Given the description of an element on the screen output the (x, y) to click on. 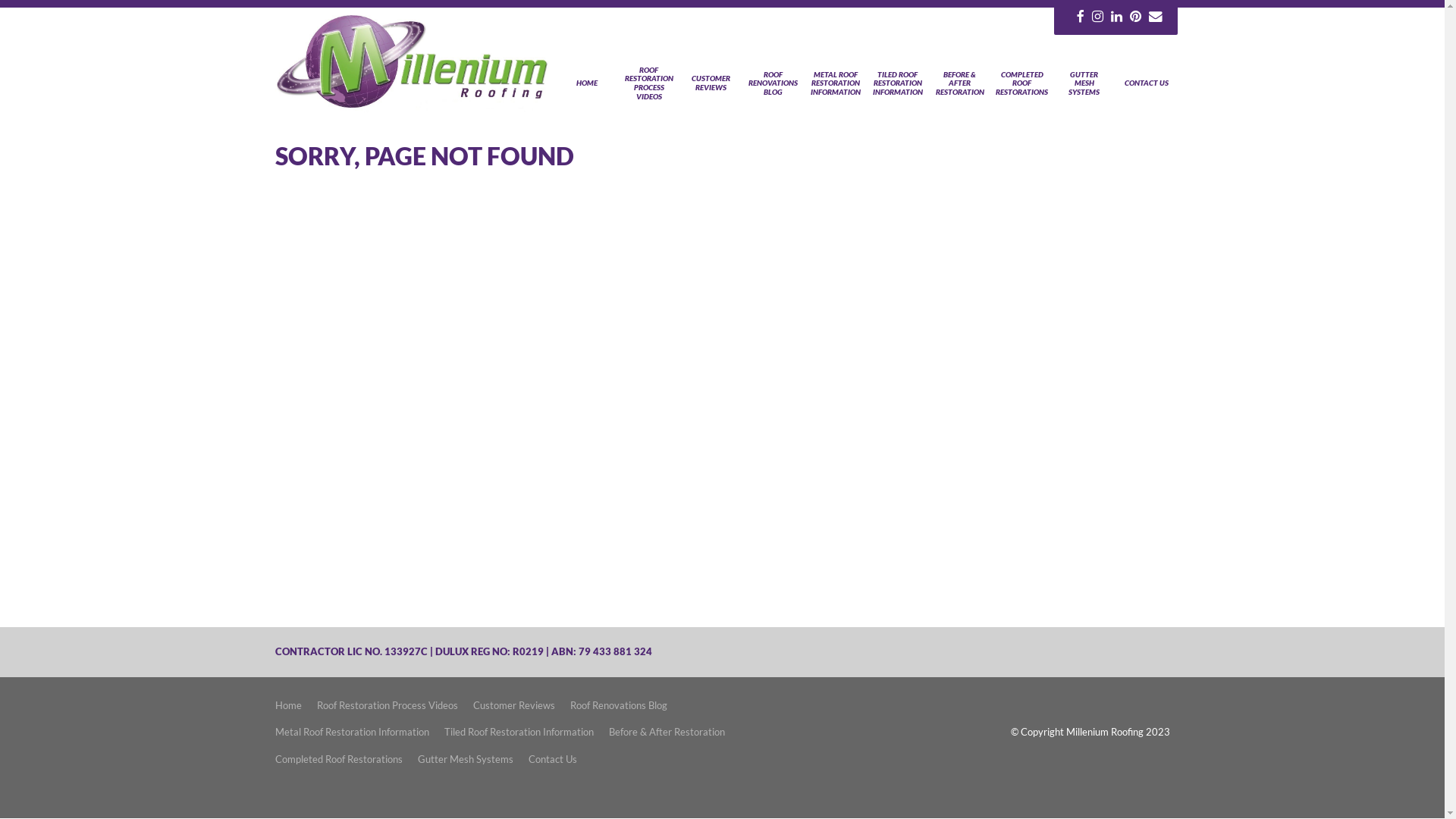
HOME Element type: text (586, 83)
ROOF RESTORATION PROCESS VIDEOS Element type: text (648, 83)
Contact Us Element type: text (551, 759)
METAL ROOF RESTORATION INFORMATION Element type: text (835, 83)
Tiled Roof Restoration Information Element type: text (518, 732)
Customer Reviews Element type: text (513, 705)
Before & After Restoration Element type: text (665, 732)
ROOF RENOVATIONS BLOG Element type: text (773, 83)
TILED ROOF RESTORATION INFORMATION Element type: text (897, 83)
COMPLETED ROOF RESTORATIONS Element type: text (1021, 83)
Roof Restoration Process Videos Element type: text (387, 705)
Gutter Mesh Systems Element type: text (464, 759)
Roof Renovations Blog Element type: text (618, 705)
GUTTER MESH SYSTEMS Element type: text (1084, 83)
CONTACT US Element type: text (1146, 83)
Metal Roof Restoration Information Element type: text (351, 732)
CUSTOMER REVIEWS Element type: text (710, 83)
Completed Roof Restorations Element type: text (337, 759)
BEFORE & AFTER RESTORATION Element type: text (959, 83)
Home Element type: text (287, 705)
